Given the description of an element on the screen output the (x, y) to click on. 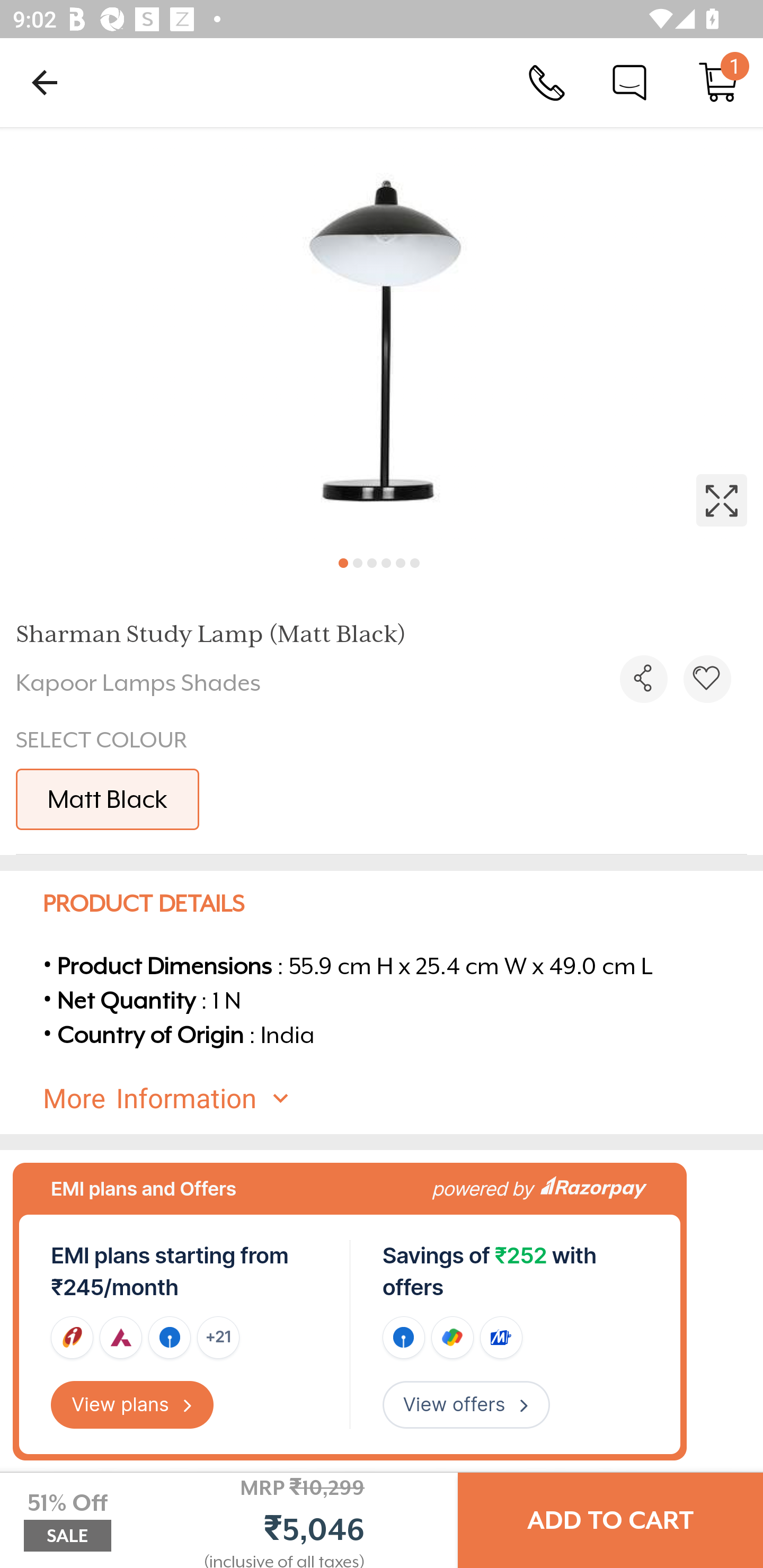
Navigate up (44, 82)
Call Us (546, 81)
Chat (629, 81)
Cart (718, 81)
 (381, 334)
 (643, 678)
 (706, 678)
Matt Black (107, 798)
More Information  (396, 1098)
View plans (132, 1404)
View offers (465, 1404)
ADD TO CART (610, 1520)
